Given the description of an element on the screen output the (x, y) to click on. 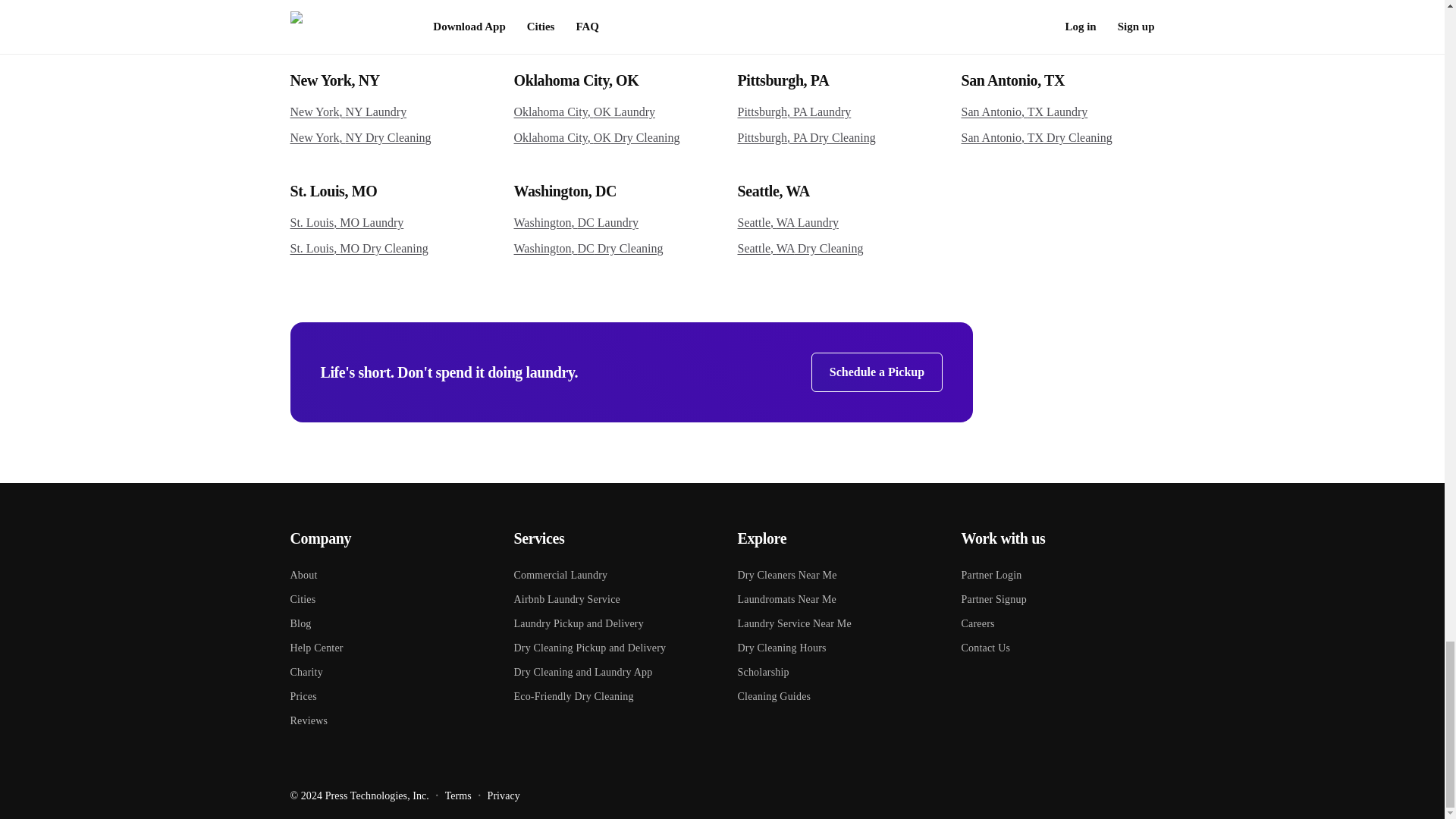
Miami, FL Laundry (1057, 7)
Los Angeles, CA Dry Cleaning (833, 27)
Las Vegas, NV Laundry (610, 7)
New York, NY Laundry (386, 112)
New York, NY Dry Cleaning (386, 137)
Houston, TX Dry Cleaning (386, 27)
Las Vegas, NV Dry Cleaning (610, 27)
Oklahoma City, OK Laundry (610, 112)
Miami, FL Dry Cleaning (1057, 27)
Houston, TX Laundry (386, 7)
Los Angeles, CA Laundry (833, 7)
